Given the description of an element on the screen output the (x, y) to click on. 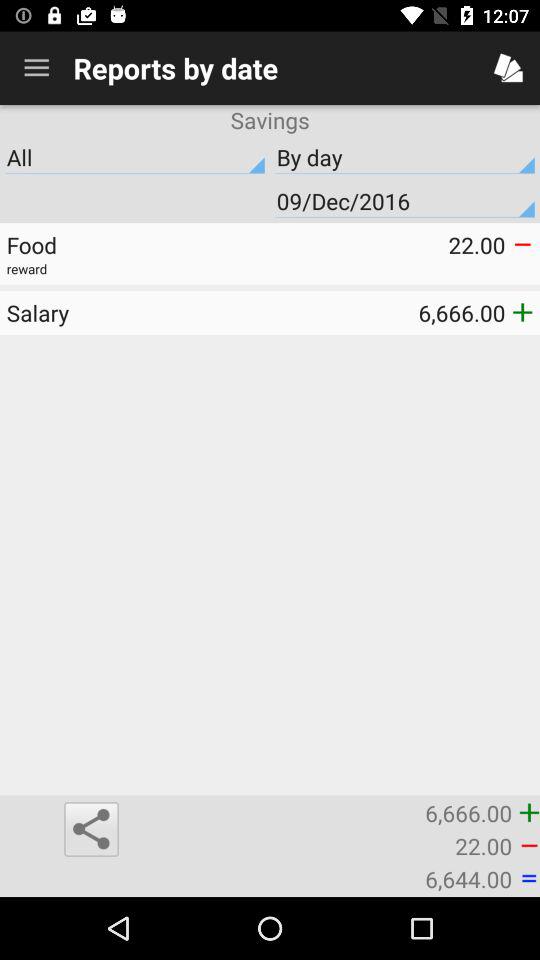
select icon below savings item (135, 157)
